Given the description of an element on the screen output the (x, y) to click on. 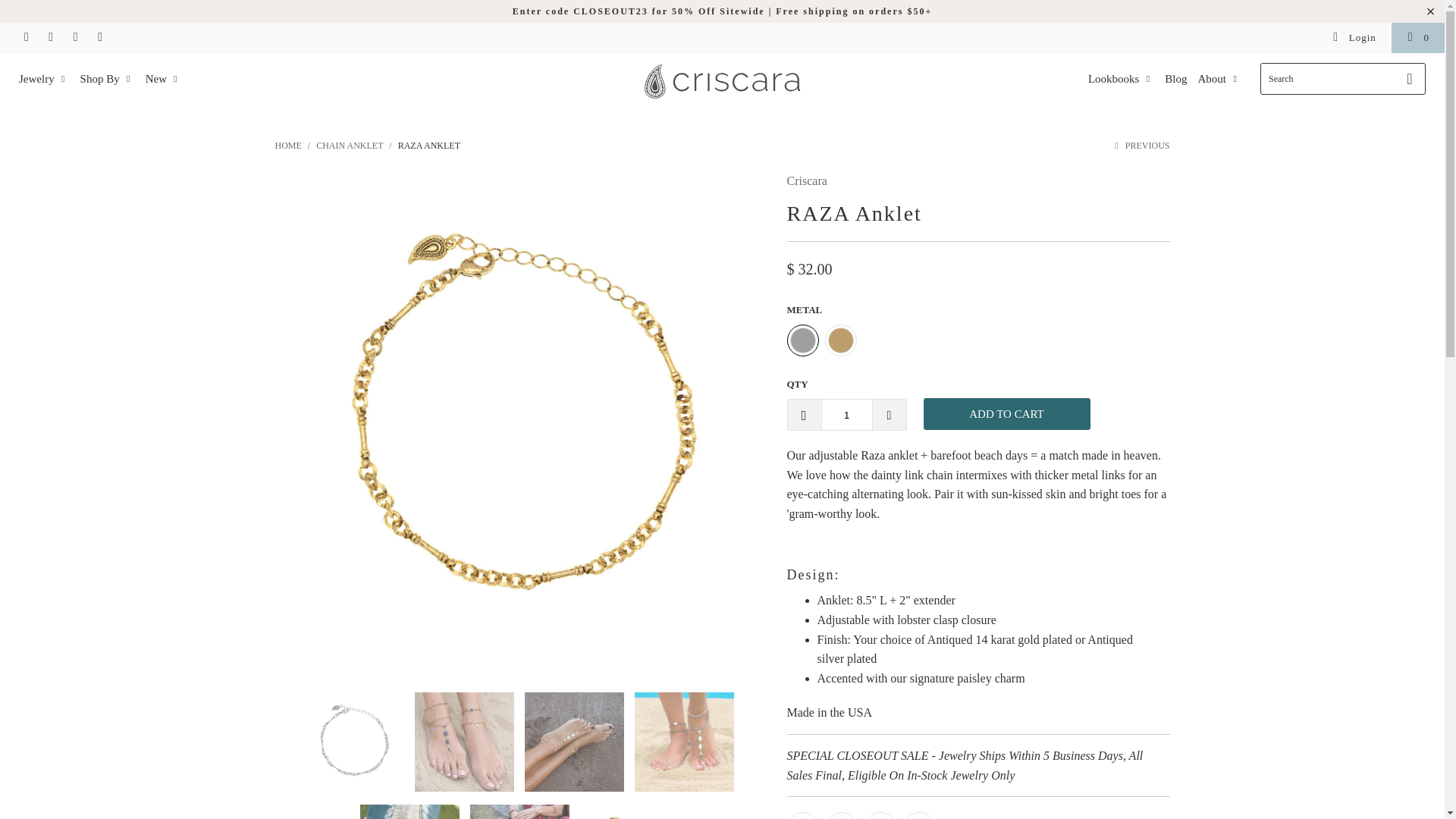
Previous (1140, 145)
Criscara on Pinterest (49, 37)
Criscara (288, 145)
Share this on Pinterest (880, 815)
Criscara on Instagram (25, 37)
Share this on Facebook (841, 815)
Criscara on Twitter (74, 37)
Email this to a friend (918, 815)
Chain Anklet (348, 145)
Criscara (722, 83)
Criscara on Facebook (99, 37)
1 (846, 414)
My Account  (1353, 37)
Share this on Twitter (802, 815)
Criscara (807, 180)
